Given the description of an element on the screen output the (x, y) to click on. 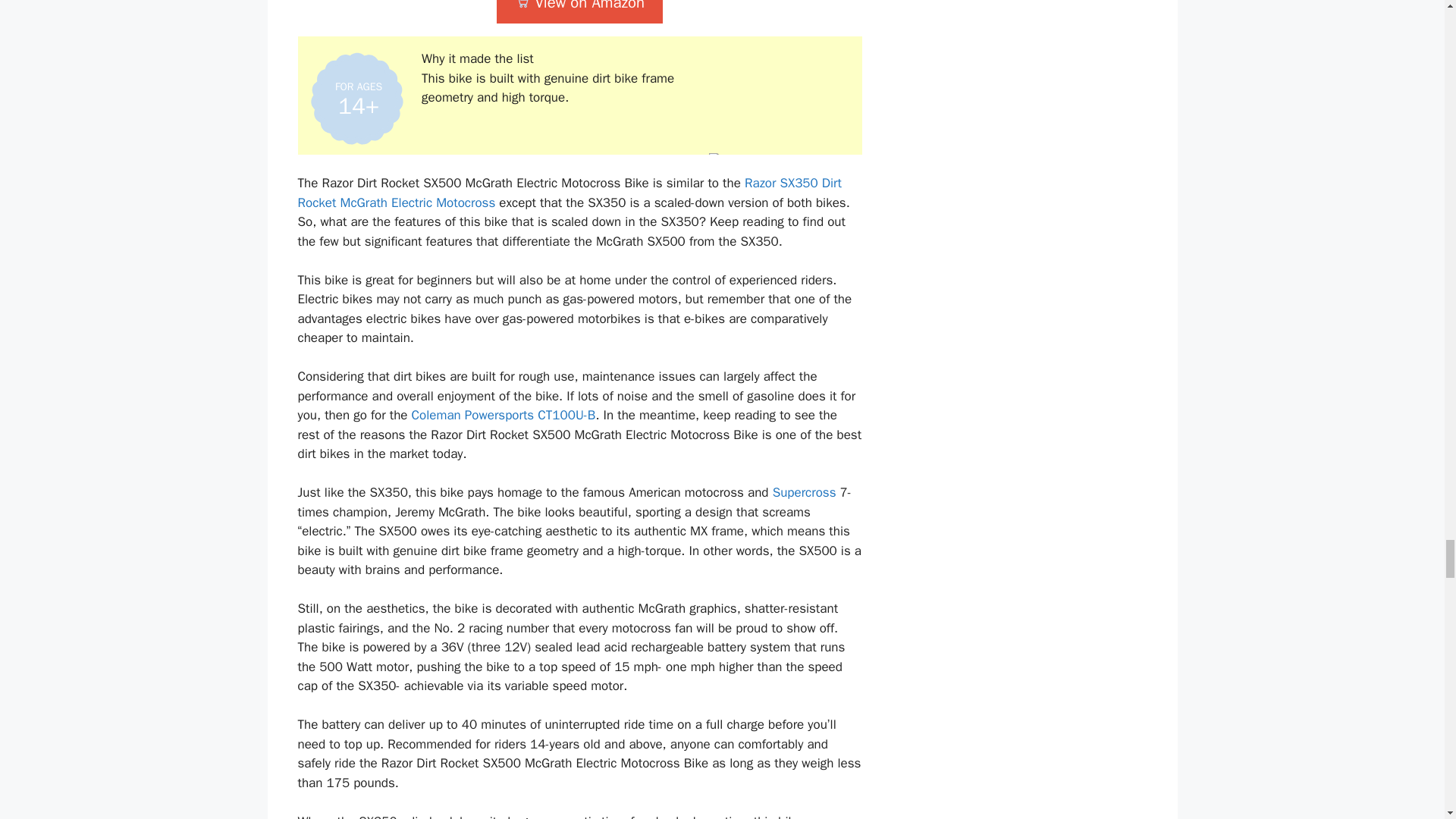
Razor SX350 Dirt Rocket McGrath Electric Motocross (569, 192)
Coleman Powersports CT100U-B (503, 415)
View on Amazon (579, 11)
